Given the description of an element on the screen output the (x, y) to click on. 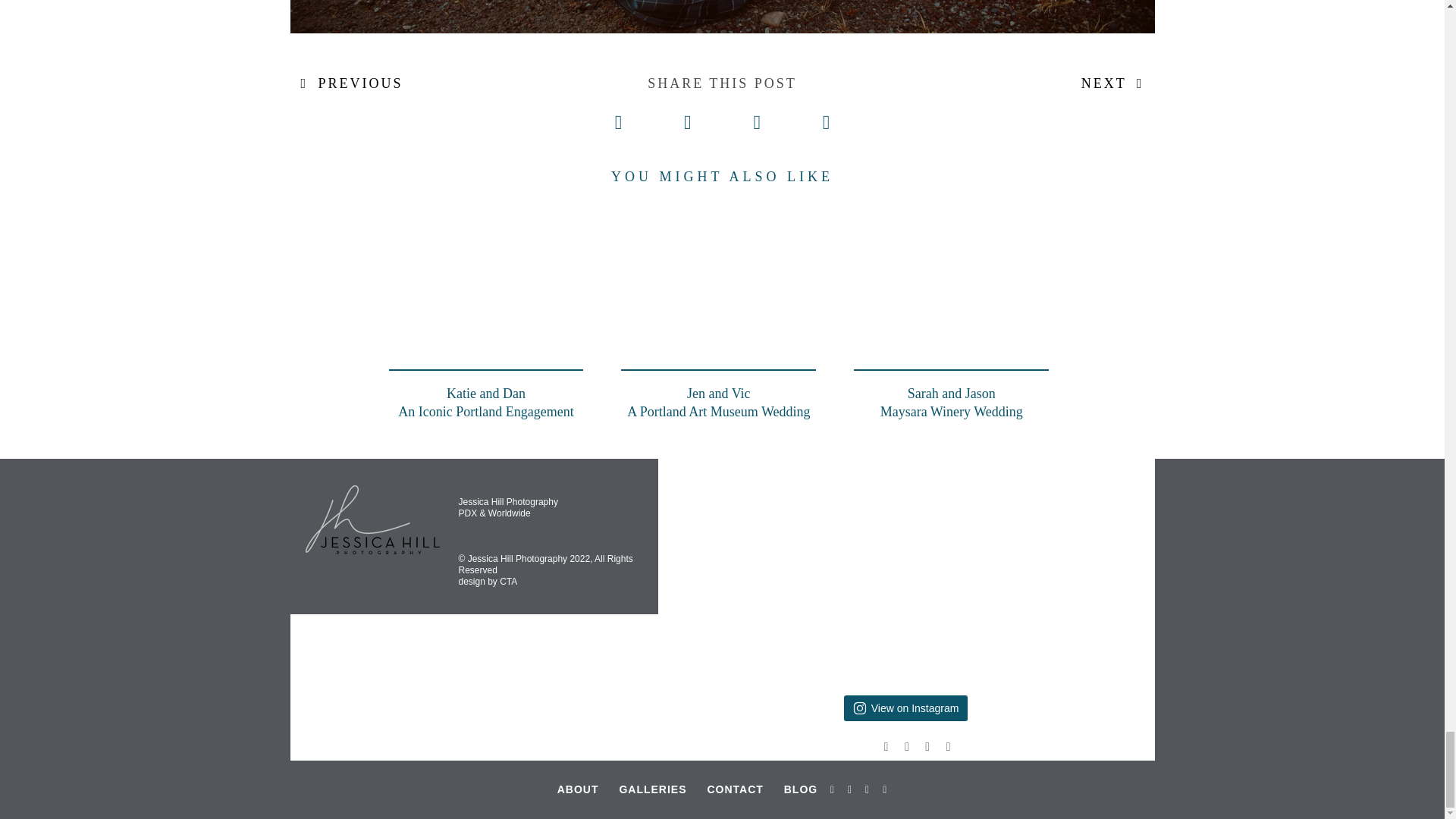
PREVIOUS (351, 83)
View on Instagram (950, 311)
NEXT (718, 311)
